Given the description of an element on the screen output the (x, y) to click on. 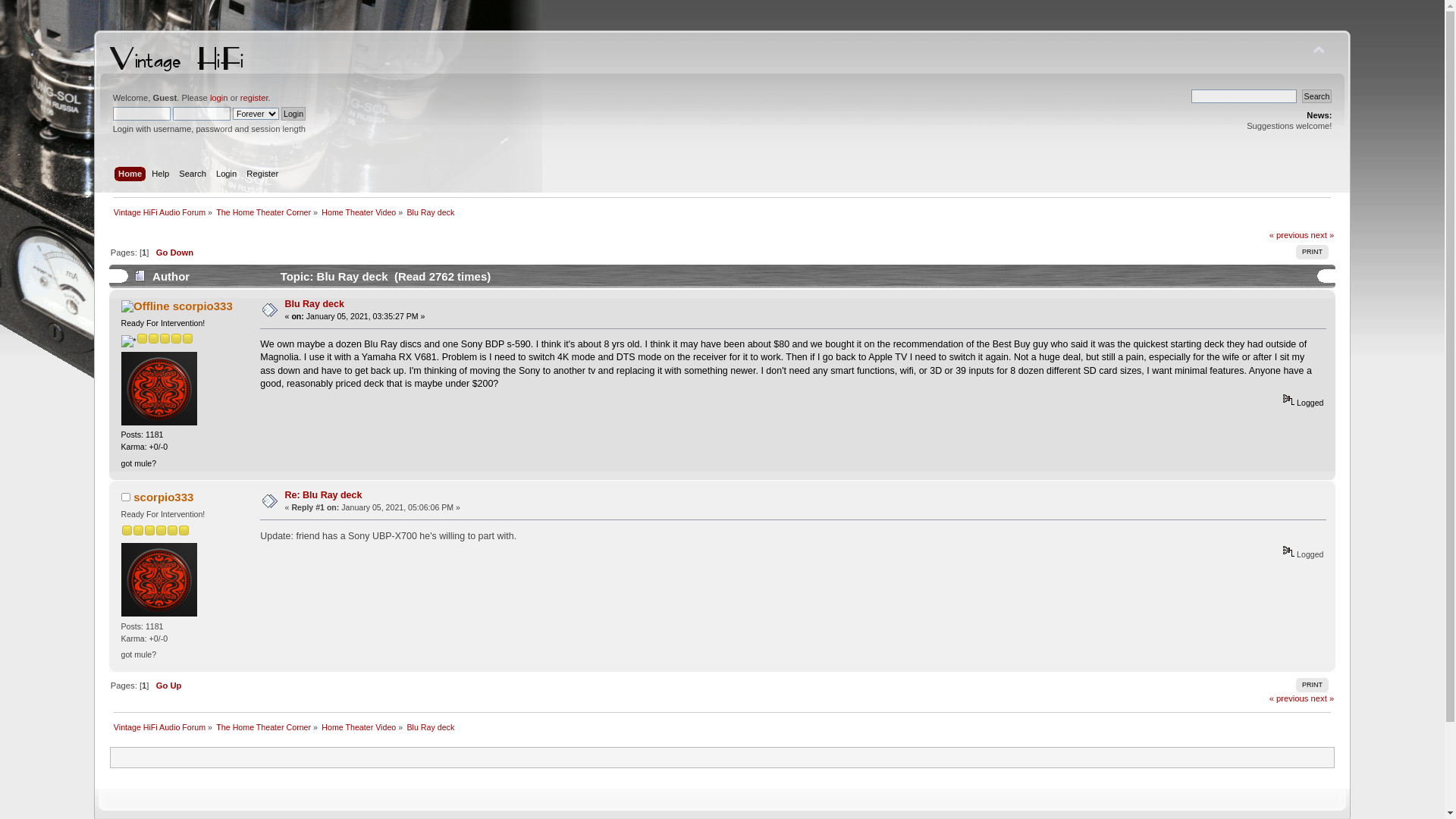
register Element type: text (254, 97)
Vintage HiFi Audio Forum Element type: text (159, 726)
Home Element type: text (131, 174)
scorpio333 Element type: text (202, 305)
Blu Ray deck Element type: text (430, 726)
Home Theater Video Element type: text (358, 211)
Search Element type: text (194, 174)
The Home Theater Corner Element type: text (263, 726)
Help Element type: text (161, 174)
Vintage HiFi Audio Forum Element type: text (159, 211)
PRINT Element type: text (1311, 684)
PRINT Element type: text (1311, 251)
login Element type: text (219, 97)
Shrink or expand the header. Element type: hover (1318, 50)
Go Down Element type: text (174, 252)
Go Up Element type: text (169, 685)
Re: Blu Ray deck Element type: text (323, 494)
scorpio333 Element type: text (163, 496)
Search Element type: text (1317, 96)
Blu Ray deck Element type: text (314, 303)
Register Element type: text (264, 174)
The Home Theater Corner Element type: text (263, 211)
Login Element type: text (293, 113)
Home Theater Video Element type: text (358, 726)
Login Element type: text (228, 174)
Blu Ray deck Element type: text (430, 211)
